Given the description of an element on the screen output the (x, y) to click on. 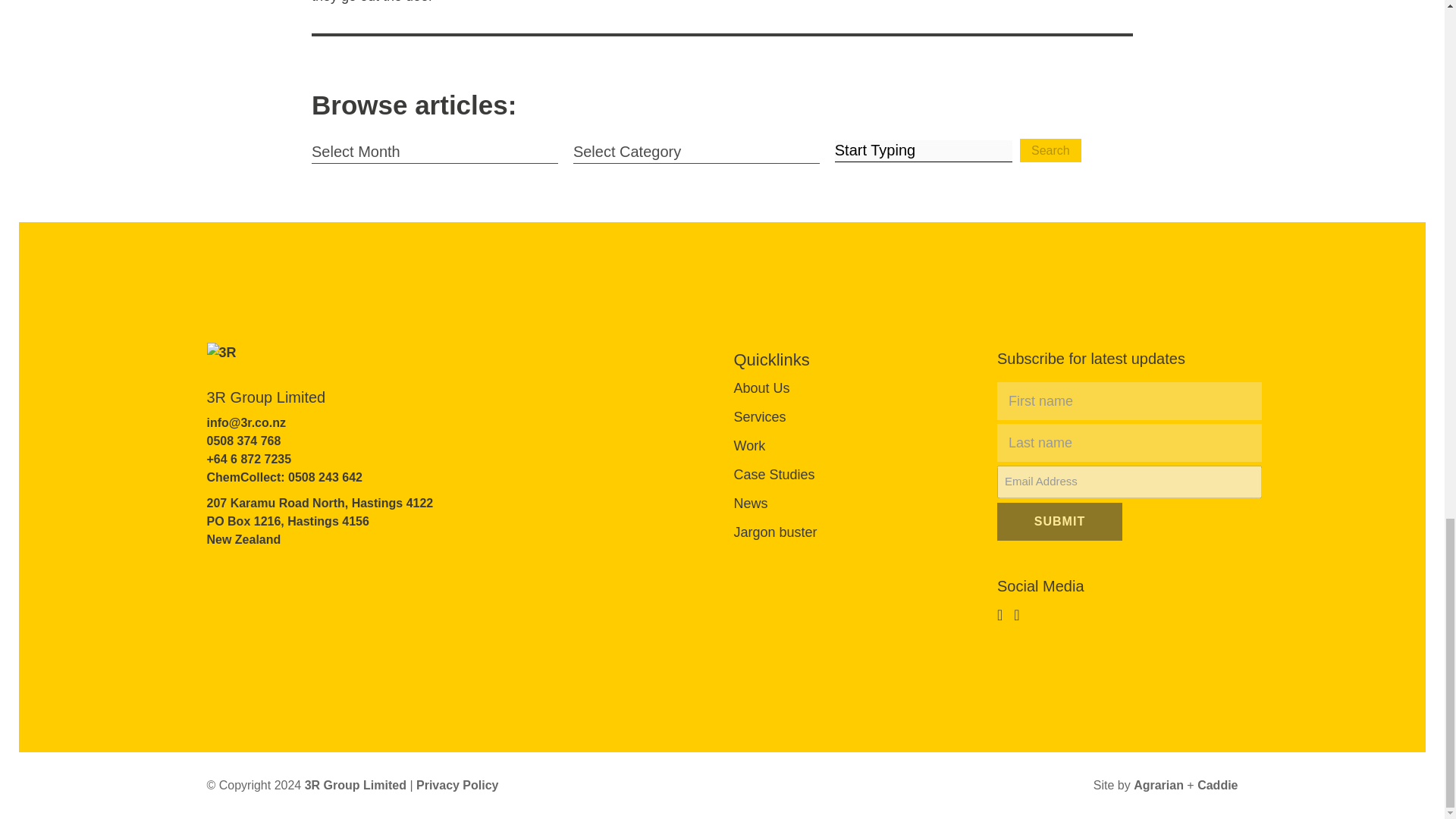
Call Us (243, 440)
Submit (1059, 521)
Mail Us (245, 422)
Call Us (248, 459)
